Given the description of an element on the screen output the (x, y) to click on. 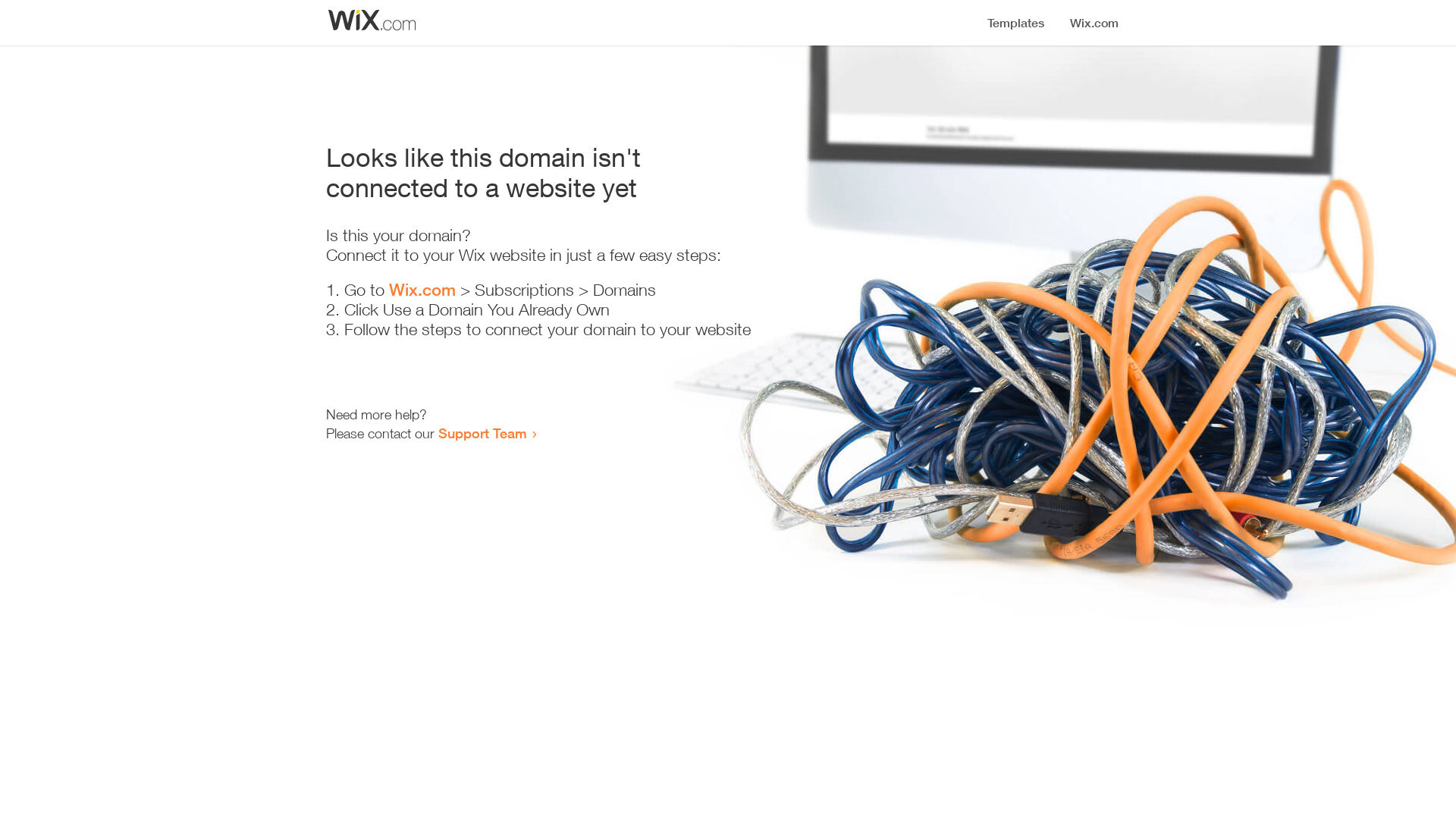
Support Team Element type: text (482, 432)
Wix.com Element type: text (422, 289)
